Given the description of an element on the screen output the (x, y) to click on. 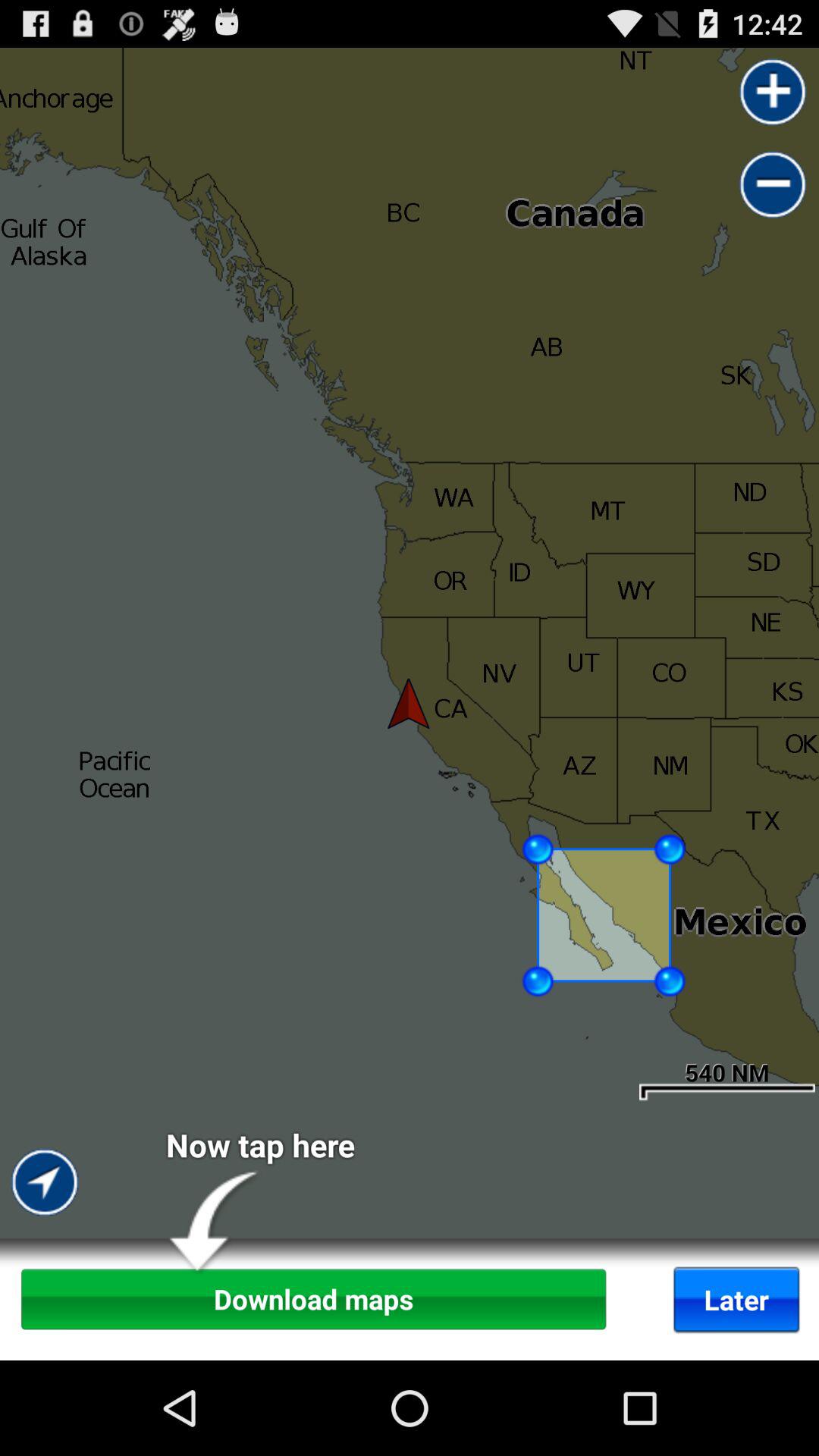
click on the first icon on the top right (773, 92)
